Given the description of an element on the screen output the (x, y) to click on. 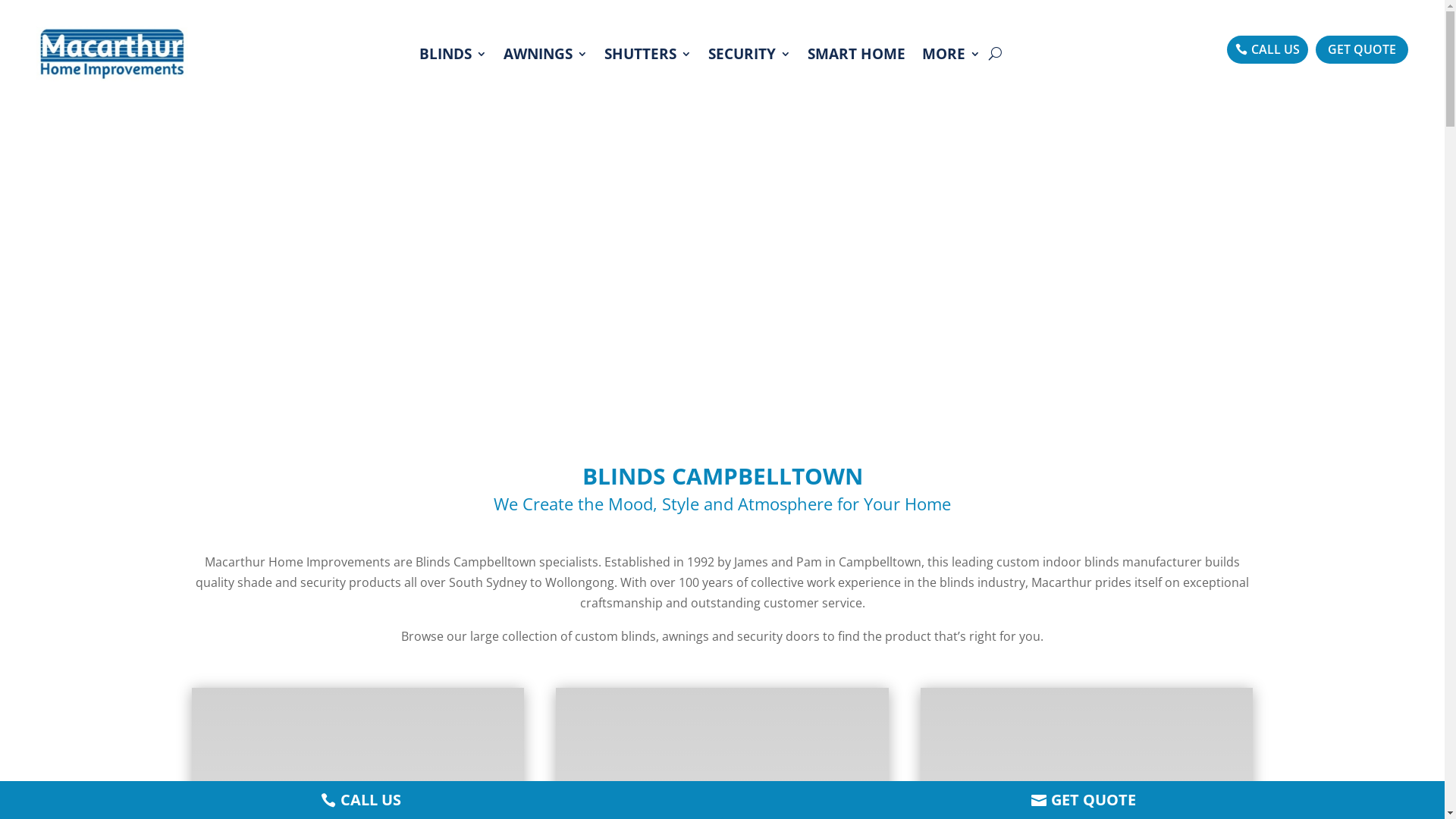
SHUTTERS Element type: text (647, 53)
SMART HOME Element type: text (856, 53)
GET QUOTE Element type: text (1361, 49)
CALL US Element type: text (1267, 49)
MORE Element type: text (951, 53)
BLINDS Element type: text (452, 53)
AWNINGS Element type: text (545, 53)
SECURITY Element type: text (749, 53)
